Given the description of an element on the screen output the (x, y) to click on. 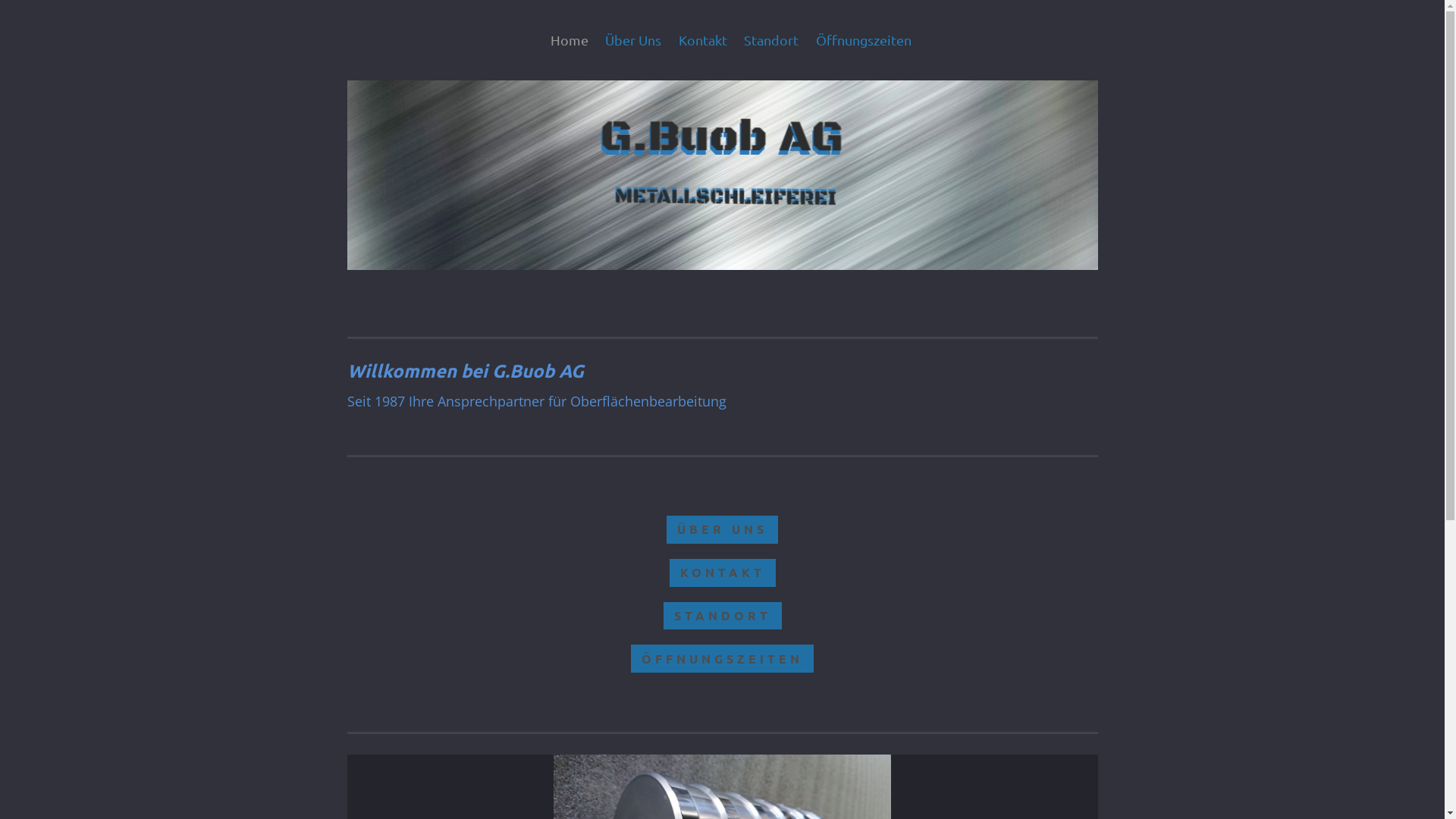
Standort Element type: text (771, 39)
KONTAKT Element type: text (721, 572)
Kontakt Element type: text (706, 39)
STANDORT Element type: text (722, 616)
Home Element type: text (573, 39)
